Given the description of an element on the screen output the (x, y) to click on. 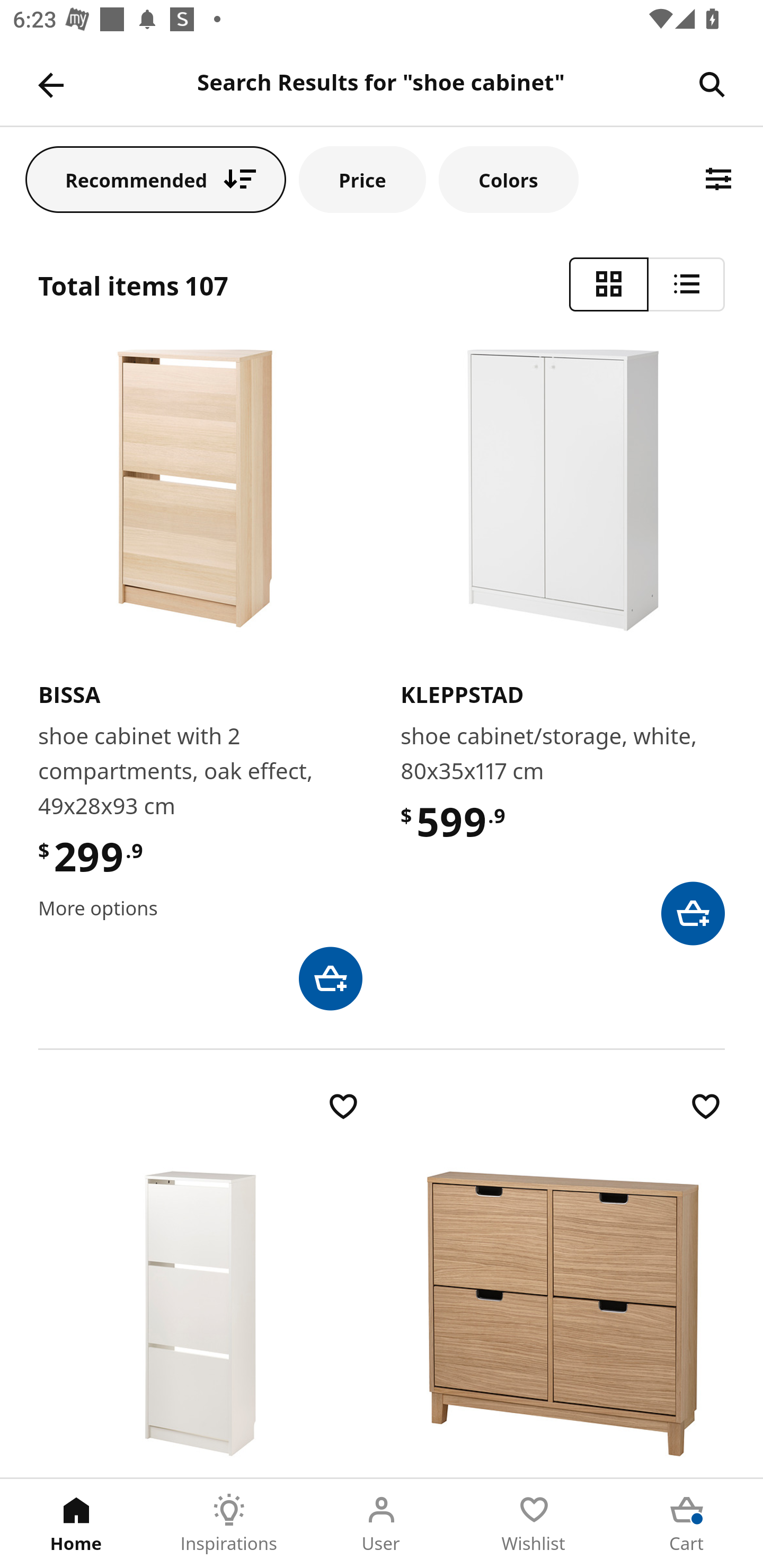
Recommended (155, 179)
Price (362, 179)
Colors (508, 179)
Home
Tab 1 of 5 (76, 1522)
Inspirations
Tab 2 of 5 (228, 1522)
User
Tab 3 of 5 (381, 1522)
Wishlist
Tab 4 of 5 (533, 1522)
Cart
Tab 5 of 5 (686, 1522)
